Given the description of an element on the screen output the (x, y) to click on. 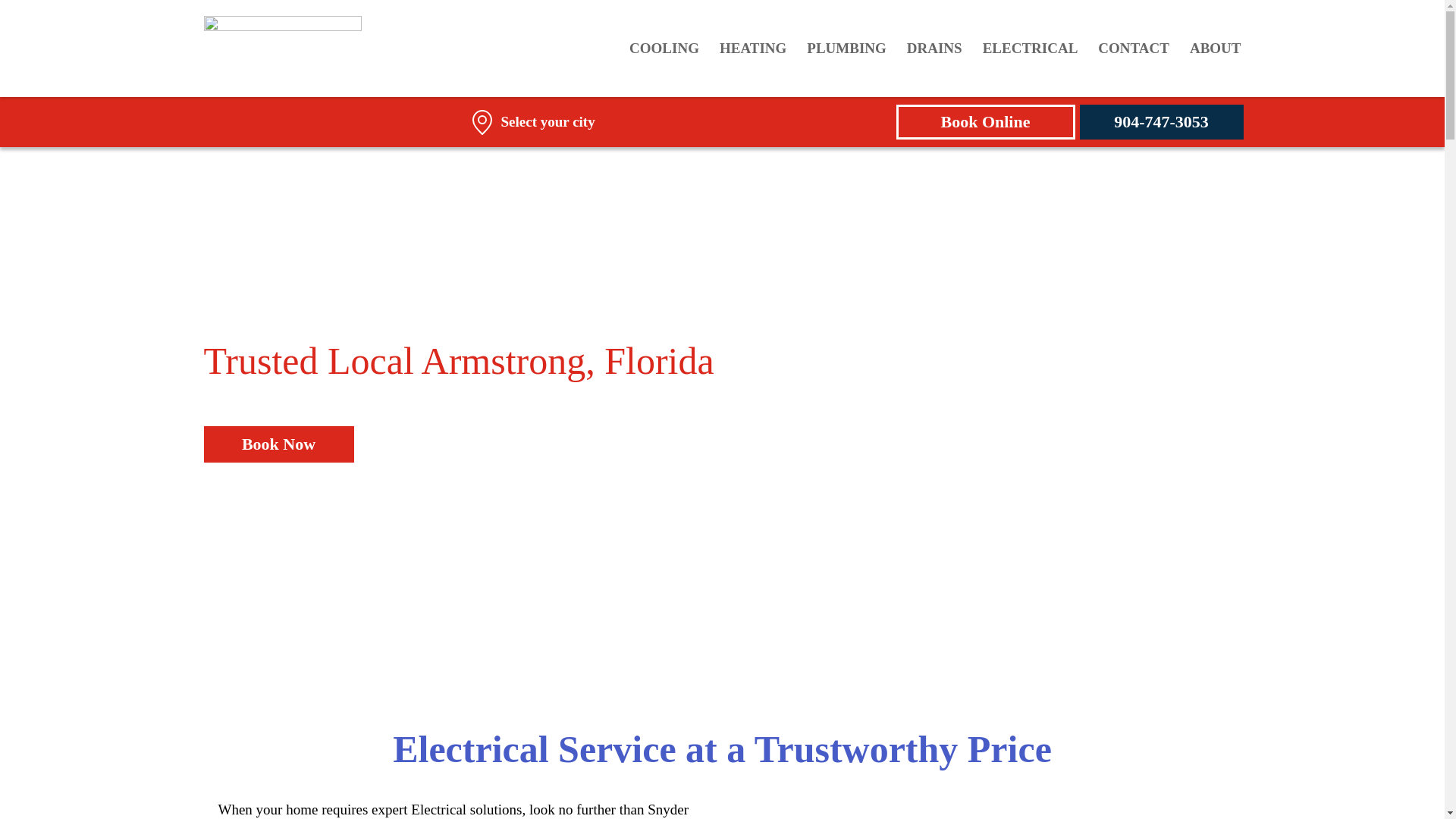
HEATING (752, 48)
PLUMBING (846, 48)
COOLING (663, 48)
